Given the description of an element on the screen output the (x, y) to click on. 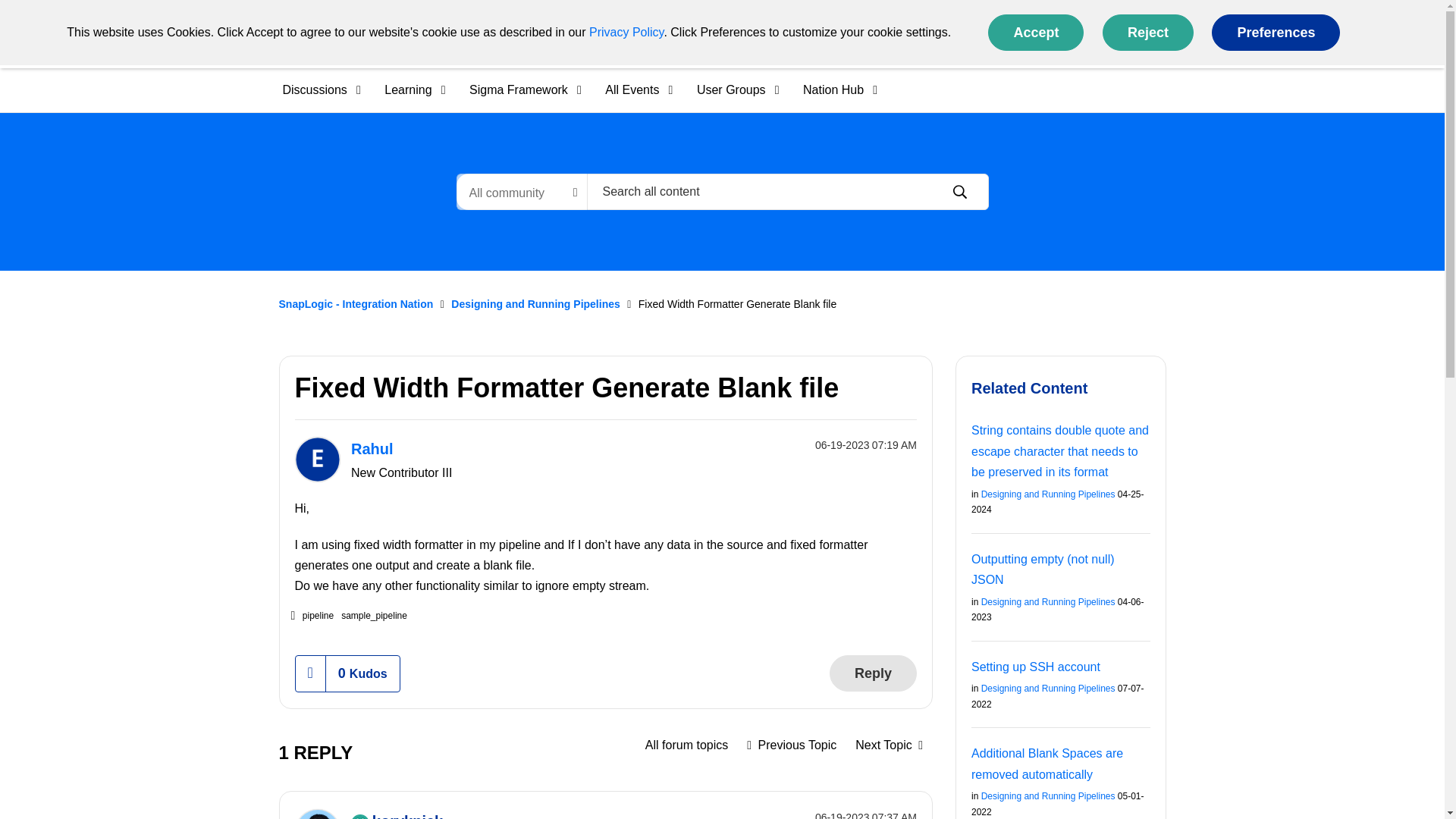
Learning (409, 89)
The total number of kudos this post has received. (362, 673)
Search Granularity (521, 191)
Search (959, 191)
Discussions (315, 89)
Accept (1035, 32)
Search (787, 191)
Preferences (1275, 32)
Sigma Framework (520, 89)
User Groups (732, 89)
